Given the description of an element on the screen output the (x, y) to click on. 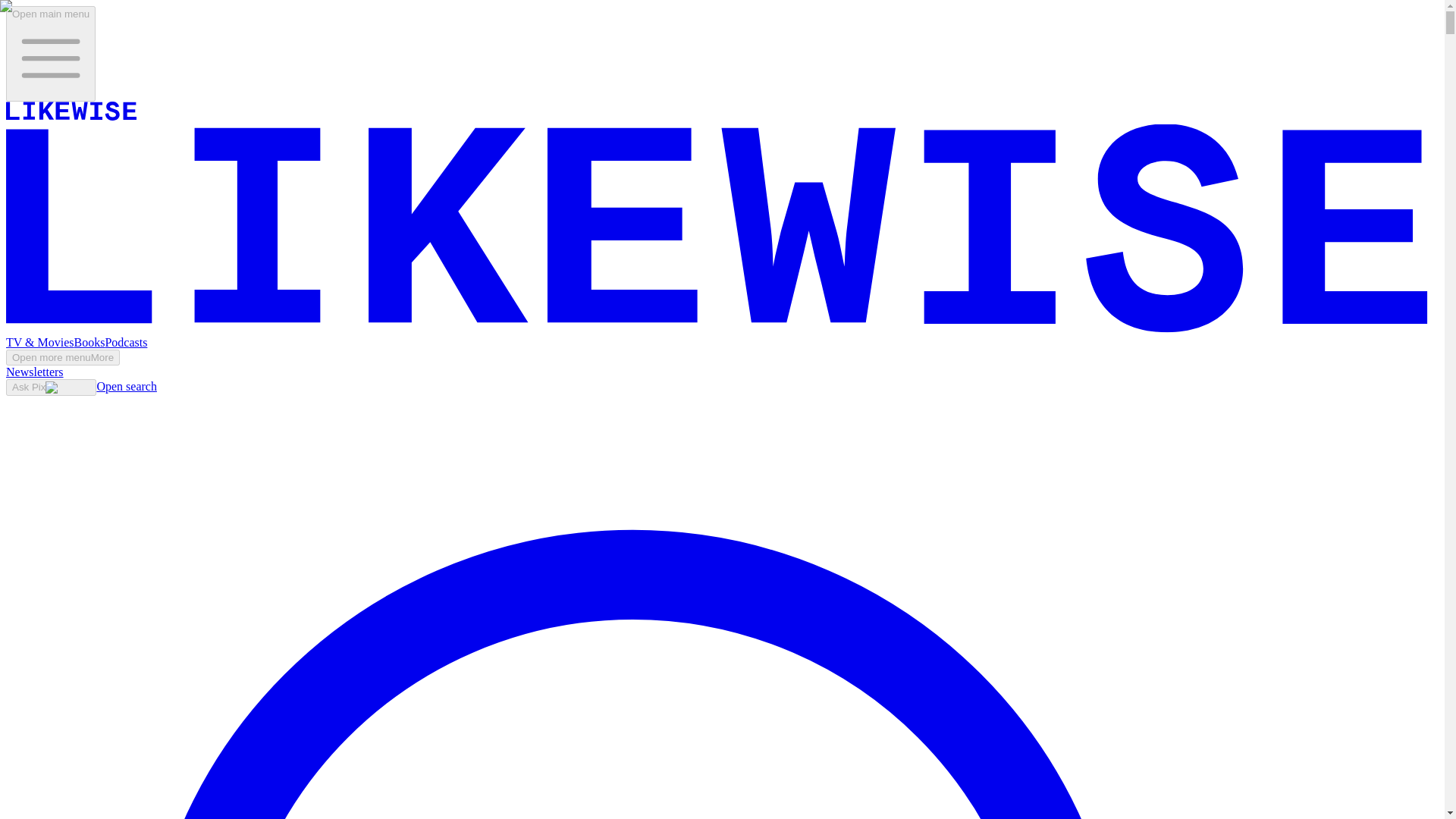
Newsletters (34, 371)
Open main menu (50, 53)
Podcasts (125, 341)
Open more menuMore (62, 357)
Books (89, 341)
Ask Pix (50, 387)
